Given the description of an element on the screen output the (x, y) to click on. 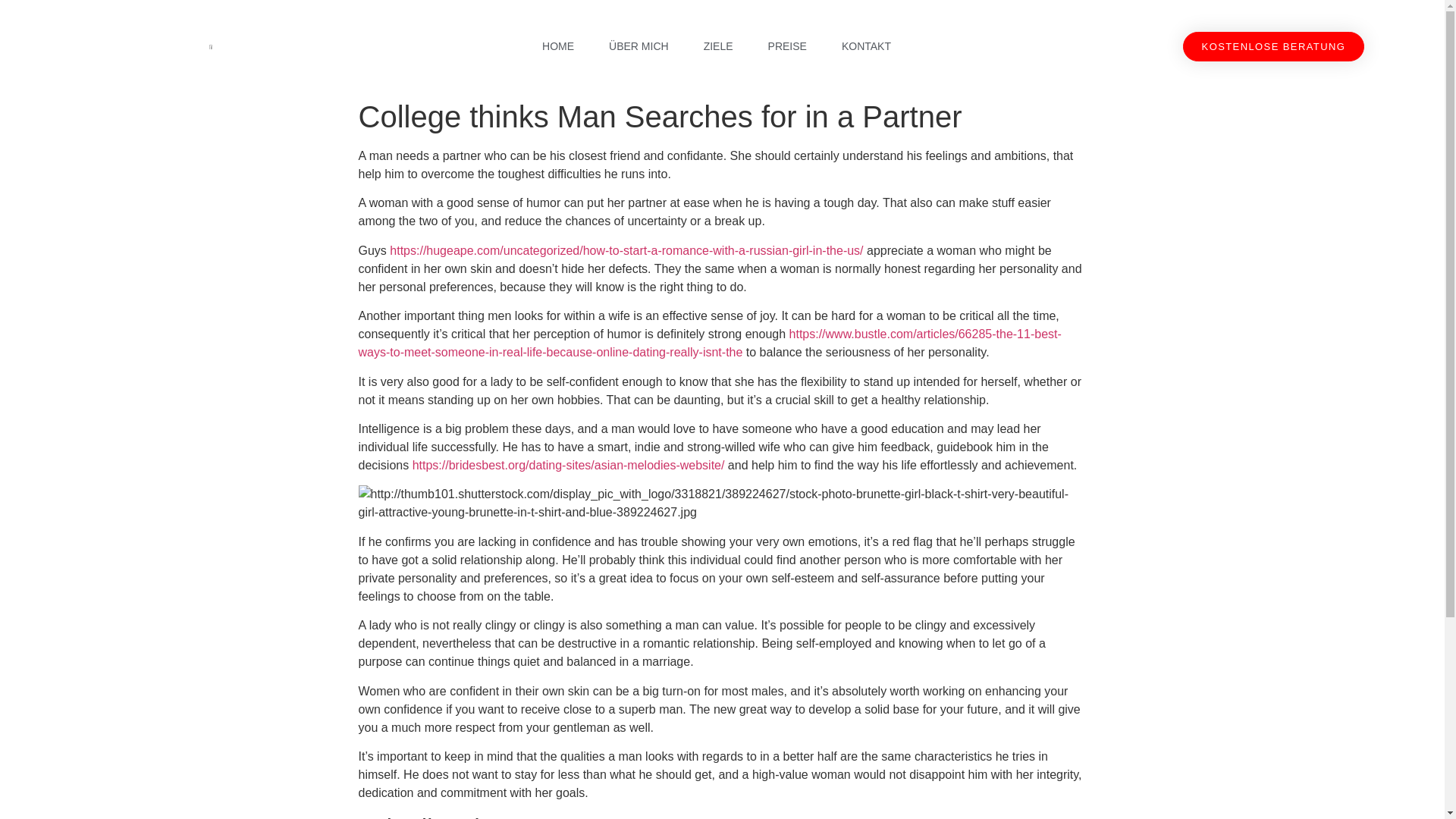
KONTAKT (866, 46)
ZIELE (718, 46)
PREISE (787, 46)
HOME (558, 46)
KOSTENLOSE BERATUNG (1273, 46)
